Given the description of an element on the screen output the (x, y) to click on. 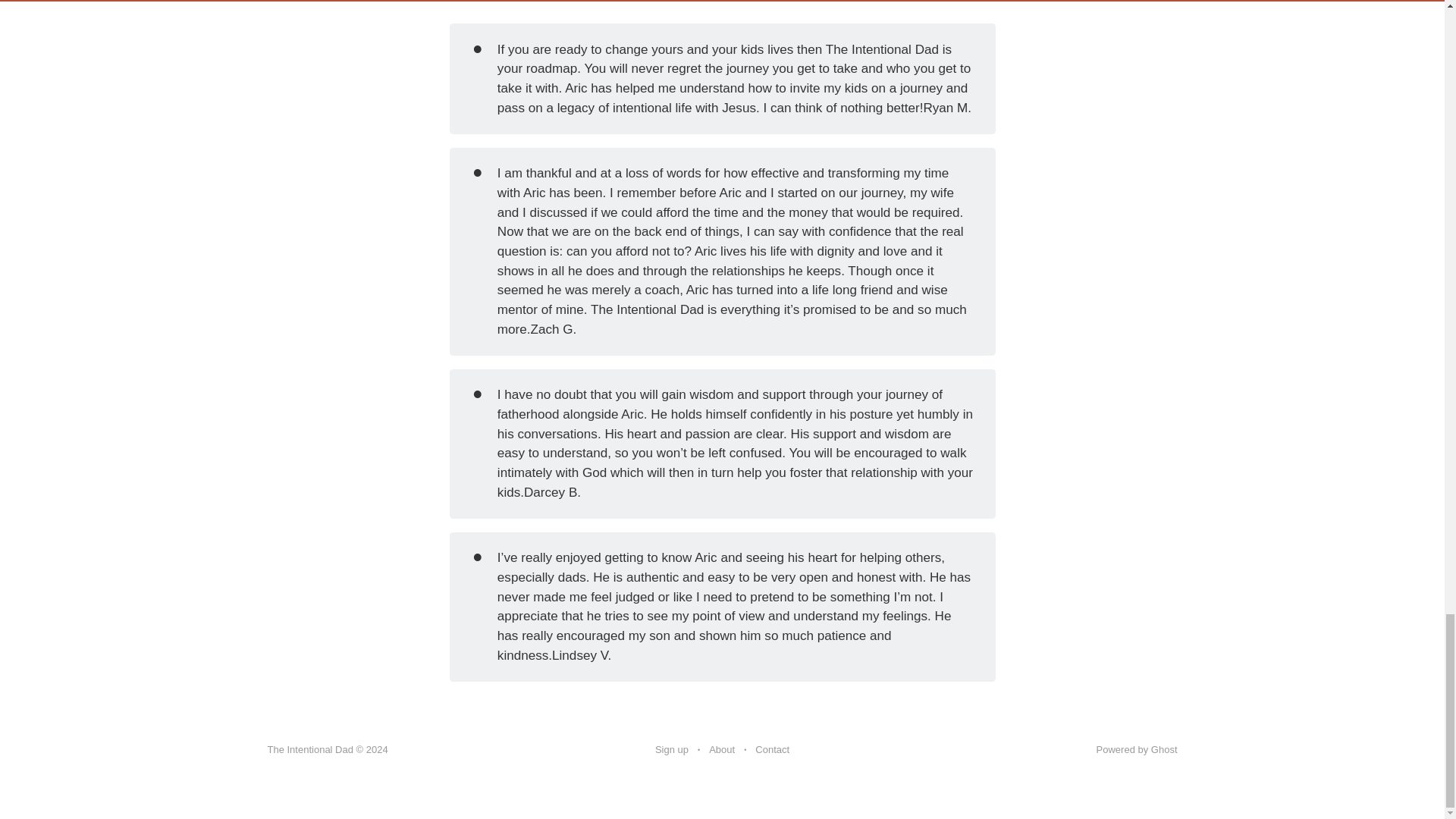
Powered by Ghost (1136, 749)
About (722, 750)
Sign up (671, 750)
Contact (772, 750)
